Given the description of an element on the screen output the (x, y) to click on. 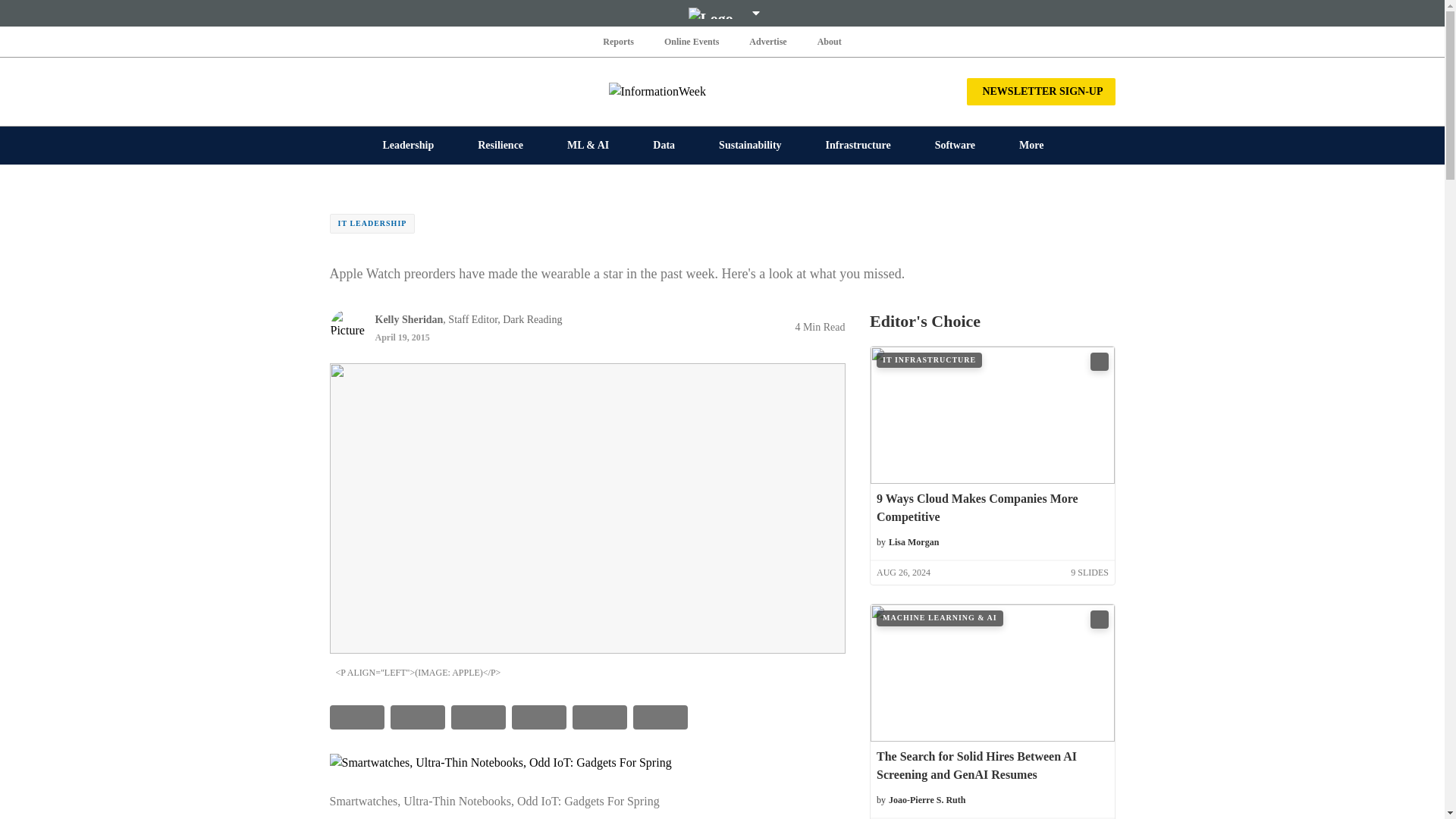
Reports (618, 41)
NEWSLETTER SIGN-UP (1040, 90)
Advertise (767, 41)
Online Events (691, 41)
InformationWeek (721, 91)
About (828, 41)
